Given the description of an element on the screen output the (x, y) to click on. 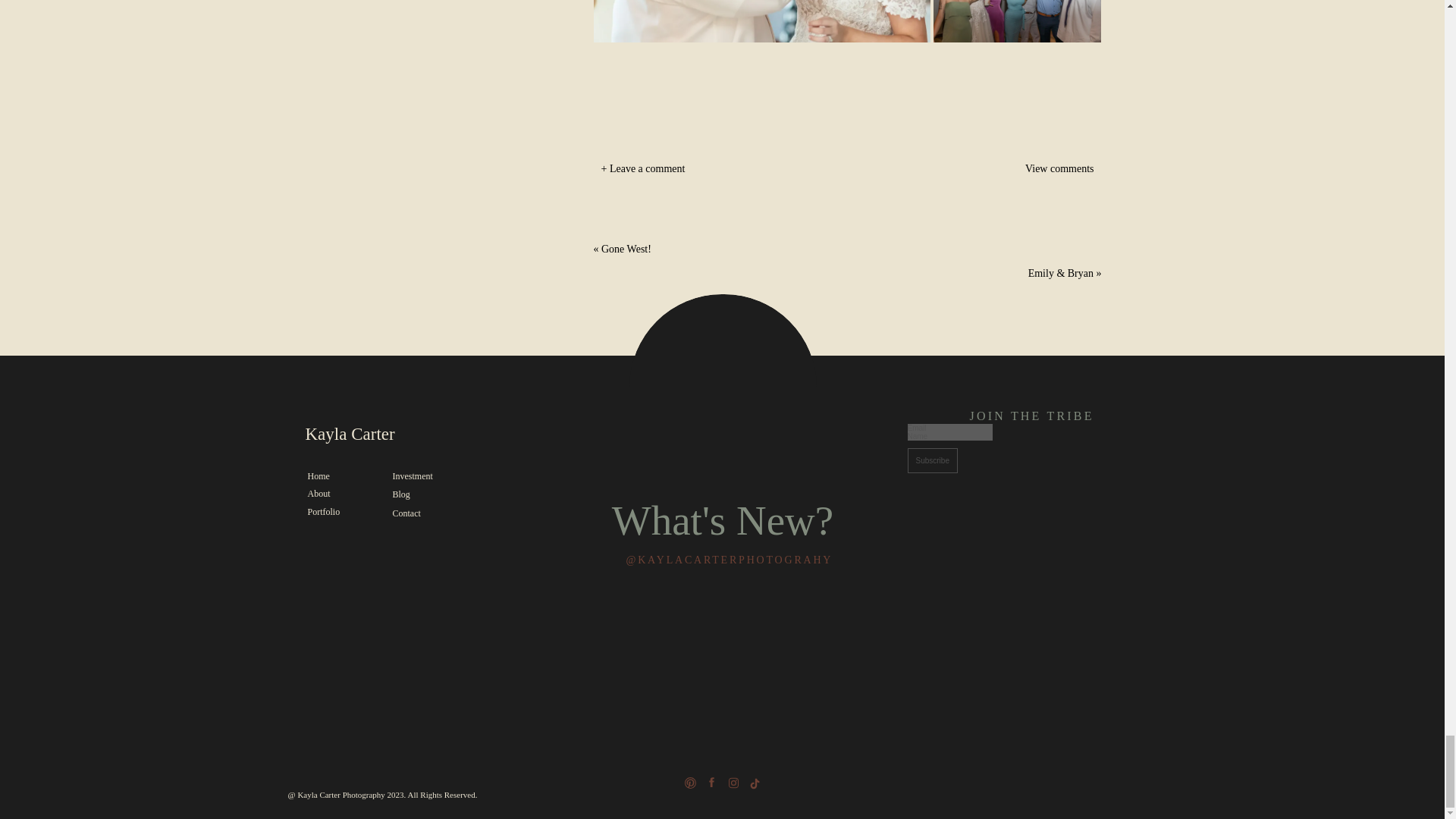
Email (949, 428)
Gone West! (625, 248)
Name (949, 436)
View comments (1021, 170)
Subscribe (931, 460)
Investment (425, 475)
Kayla Carter (381, 437)
Home (339, 476)
